Given the description of an element on the screen output the (x, y) to click on. 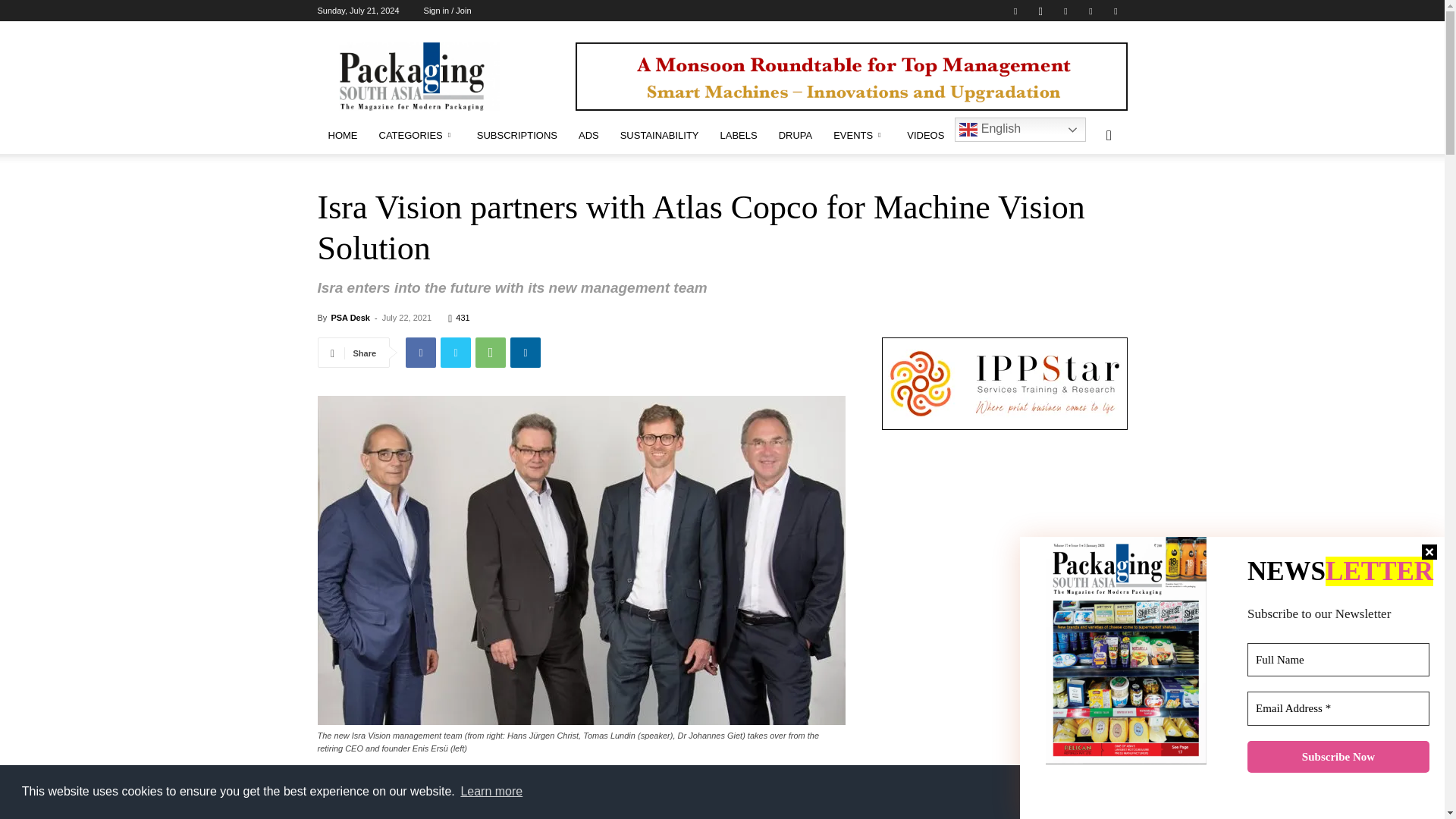
Linkedin (1065, 10)
Facebook (1015, 10)
Learn more (491, 791)
Instagram (1040, 10)
Subscribe Now (1338, 756)
Youtube (1114, 10)
Got it! (1369, 791)
Twitter (1090, 10)
